Given the description of an element on the screen output the (x, y) to click on. 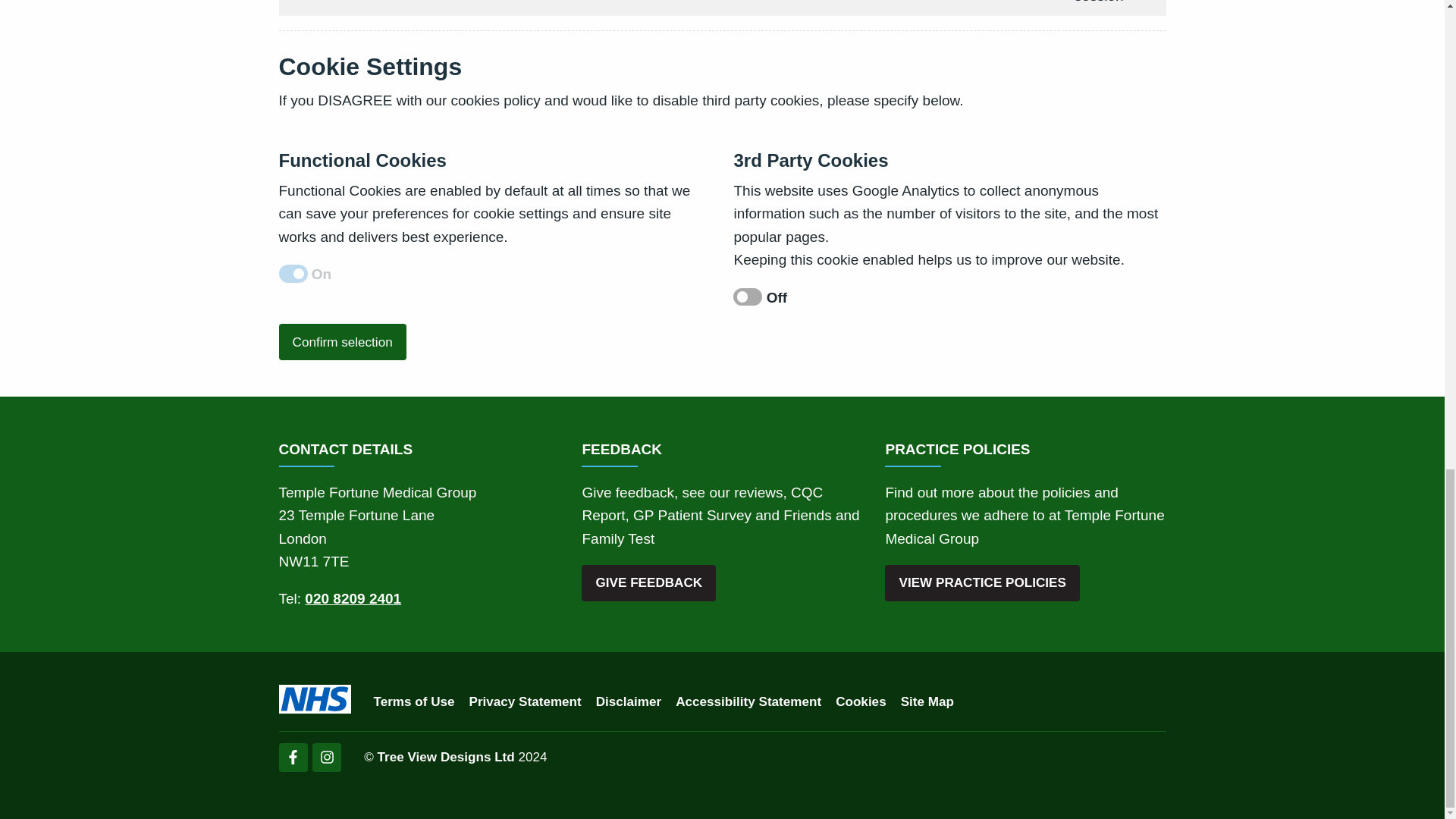
Site Map (927, 701)
Privacy Statement (524, 701)
Terms of Use (413, 701)
VIEW PRACTICE POLICIES (982, 583)
Disclaimer (628, 701)
Cookies (860, 701)
The NHS Logo (314, 698)
Confirm selection (342, 341)
020 8209 2401 (352, 598)
Accessibility Statement (748, 701)
